Given the description of an element on the screen output the (x, y) to click on. 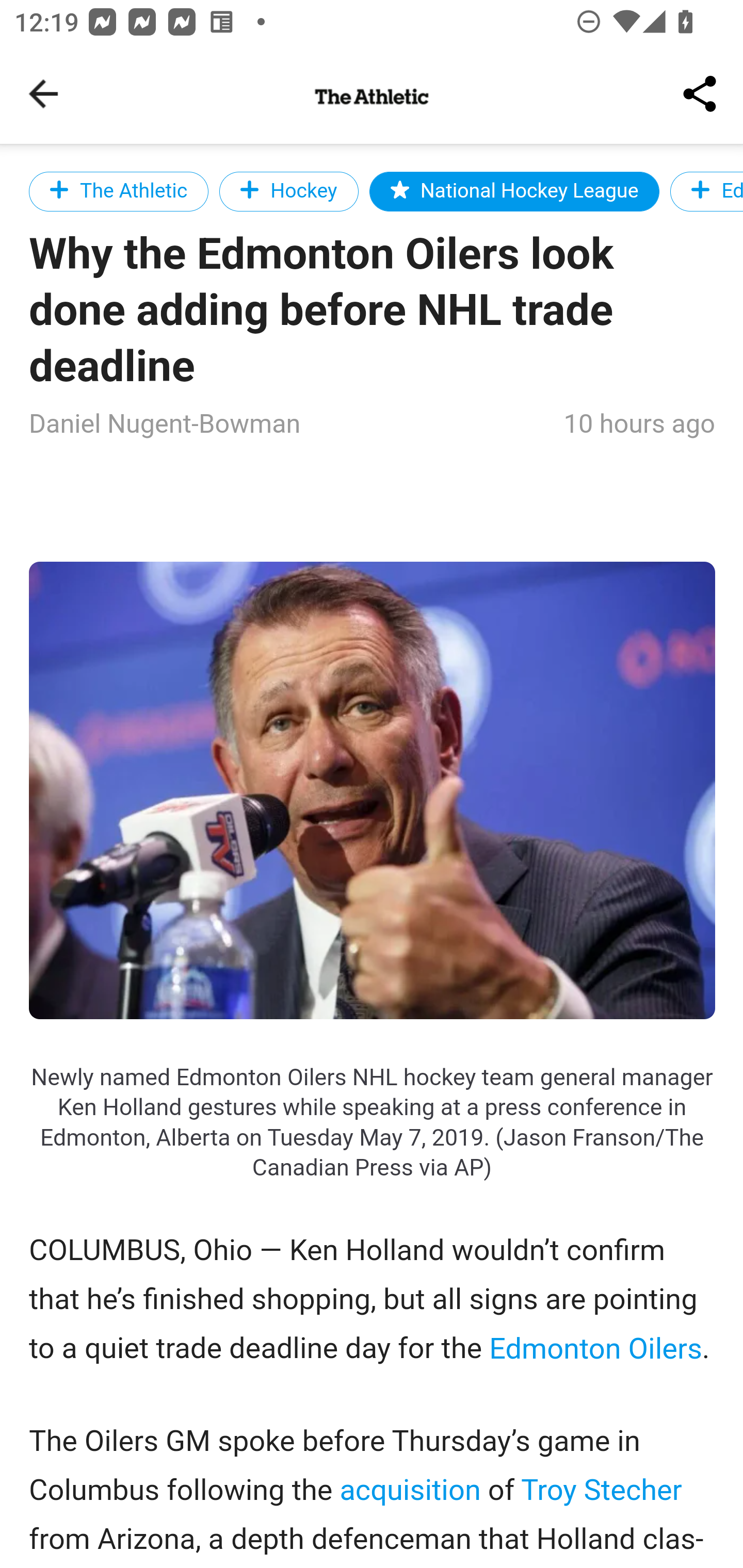
The Athletic (118, 191)
Hockey (288, 191)
National Hockey League (514, 191)
Edmonton Oilers (594, 1348)
acquisition (410, 1490)
Troy Stecher (601, 1490)
